Given the description of an element on the screen output the (x, y) to click on. 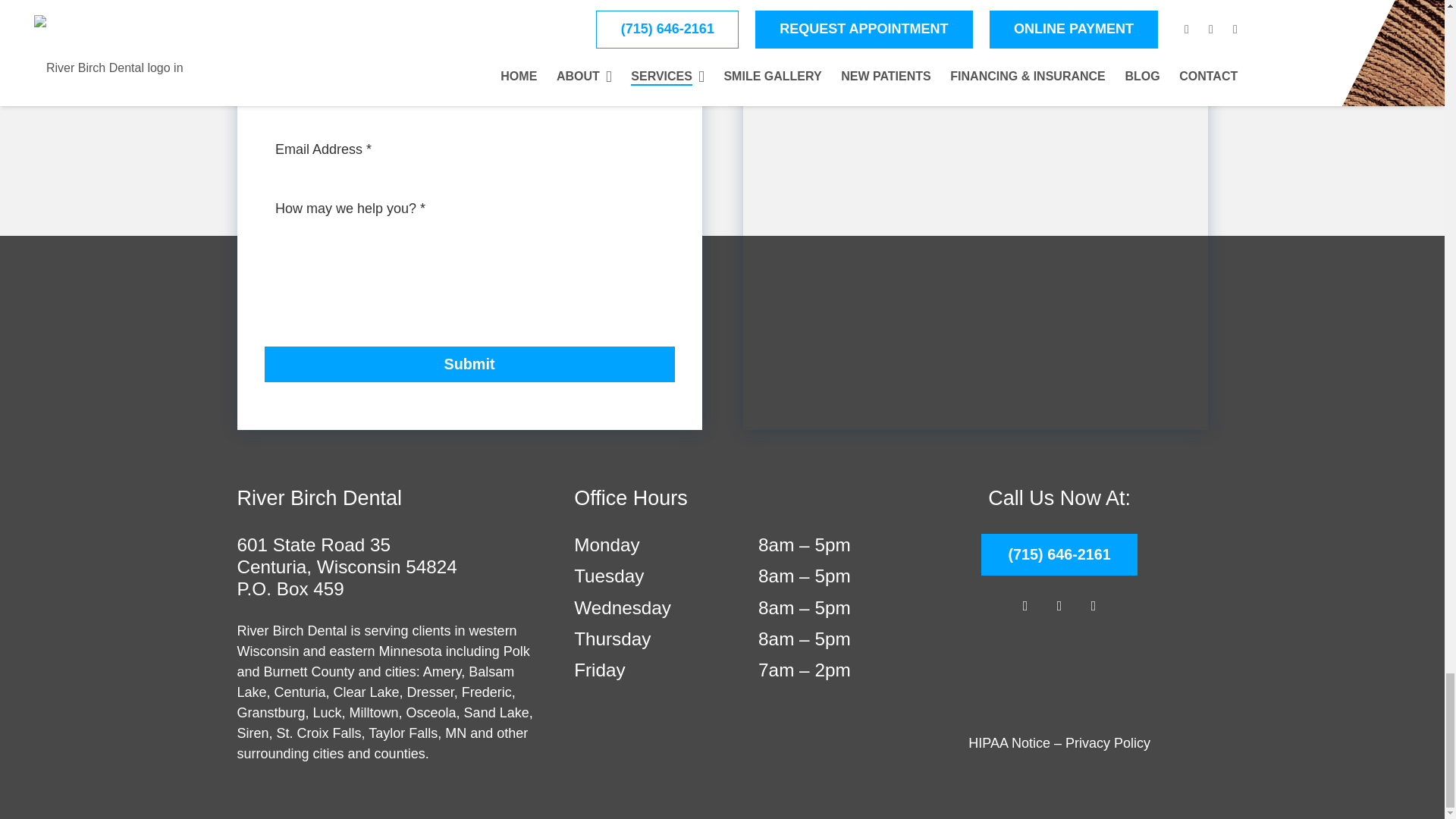
River Birch Dental (1059, 674)
Google (1059, 605)
Submit (468, 364)
Facebook (1025, 605)
Yelp (1093, 605)
